Given the description of an element on the screen output the (x, y) to click on. 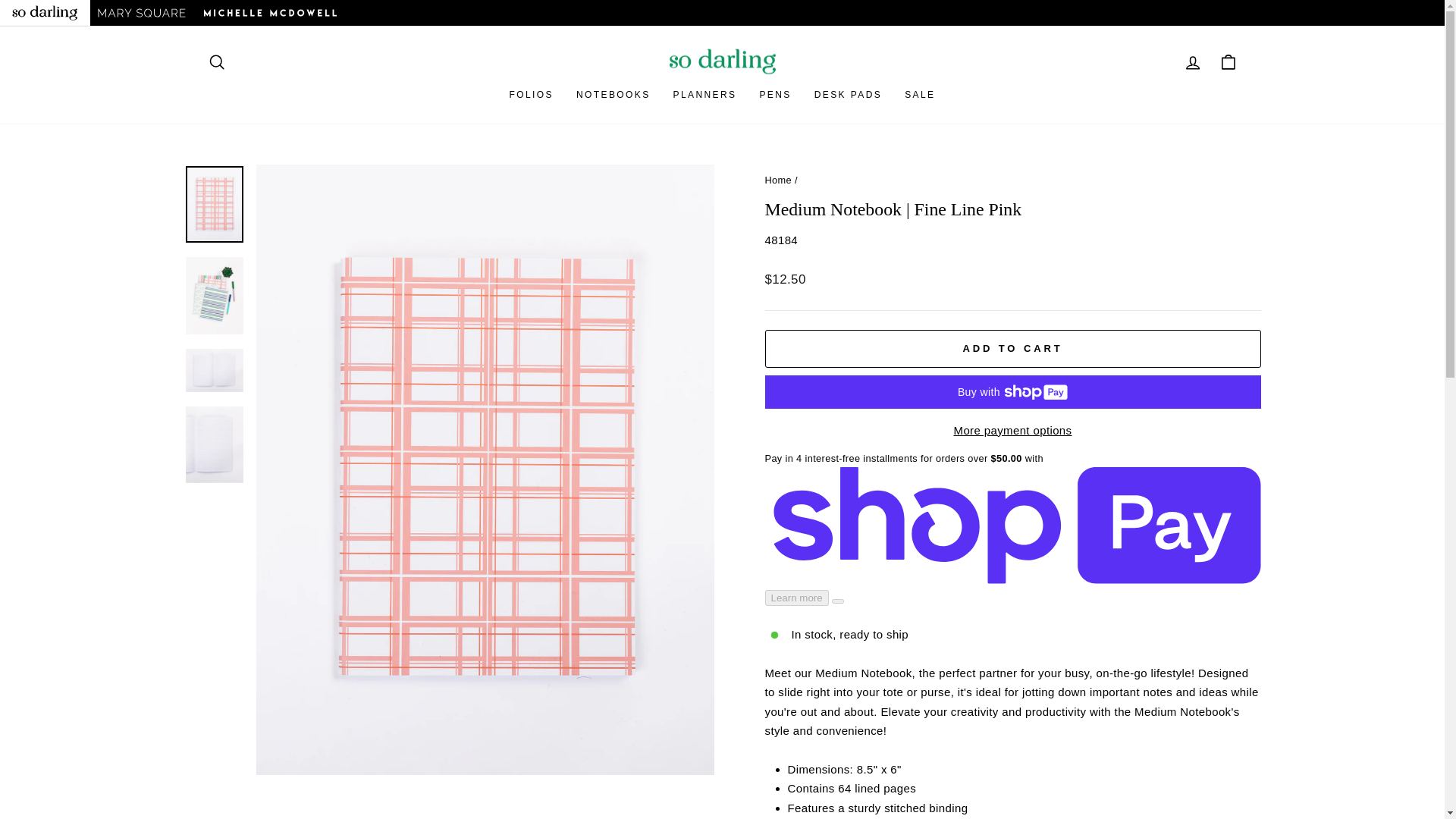
PENS (775, 94)
ADD TO CART (1012, 348)
ICON-SEARCH (218, 62)
ACCOUNT (215, 61)
Skip to content (1192, 62)
PLANNERS (848, 94)
Home (1194, 62)
SALE (705, 94)
More payment options (778, 179)
FOLIOS (1229, 62)
Back to the frontpage (919, 94)
